Given the description of an element on the screen output the (x, y) to click on. 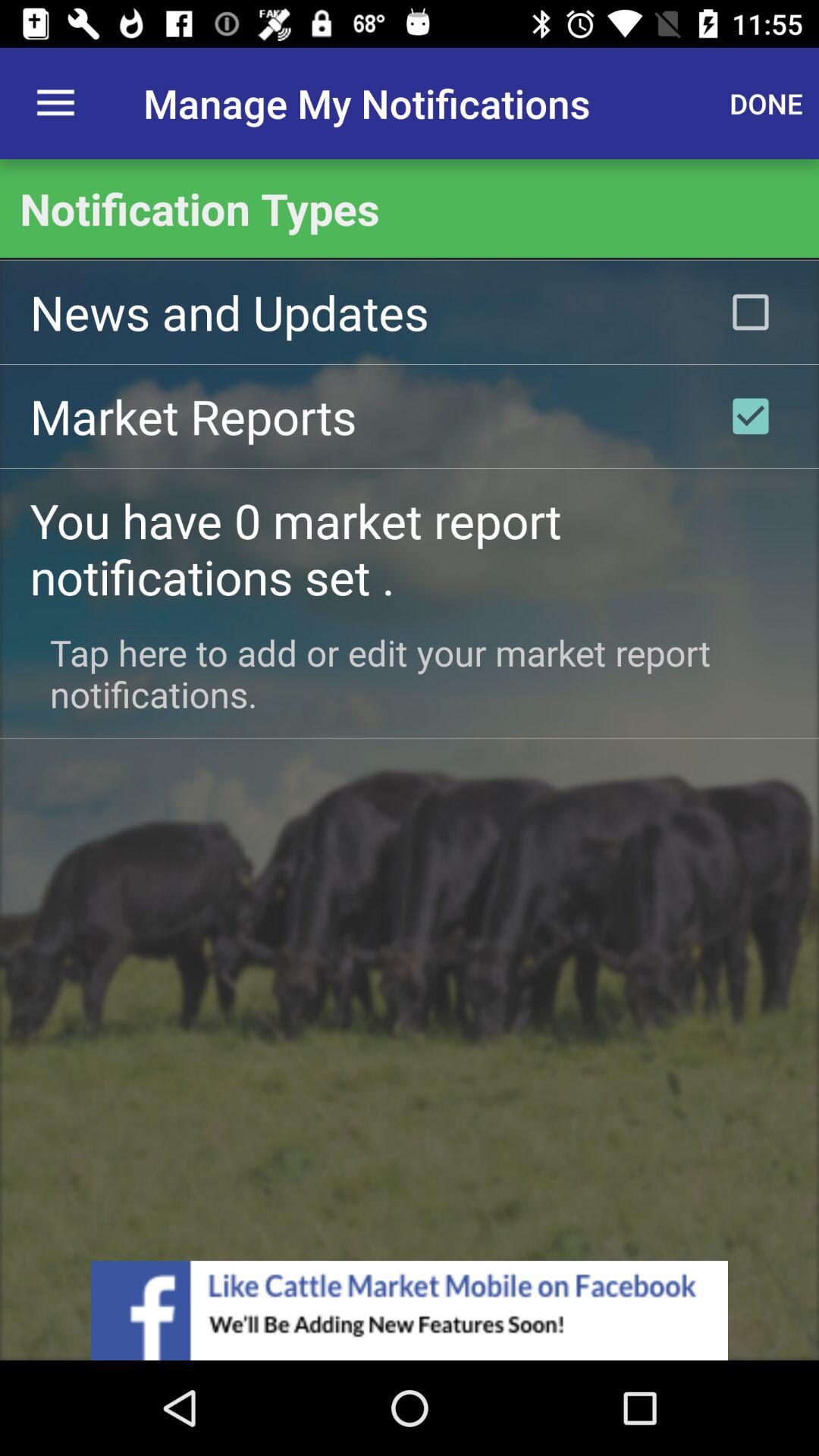
select market reports (750, 416)
